Given the description of an element on the screen output the (x, y) to click on. 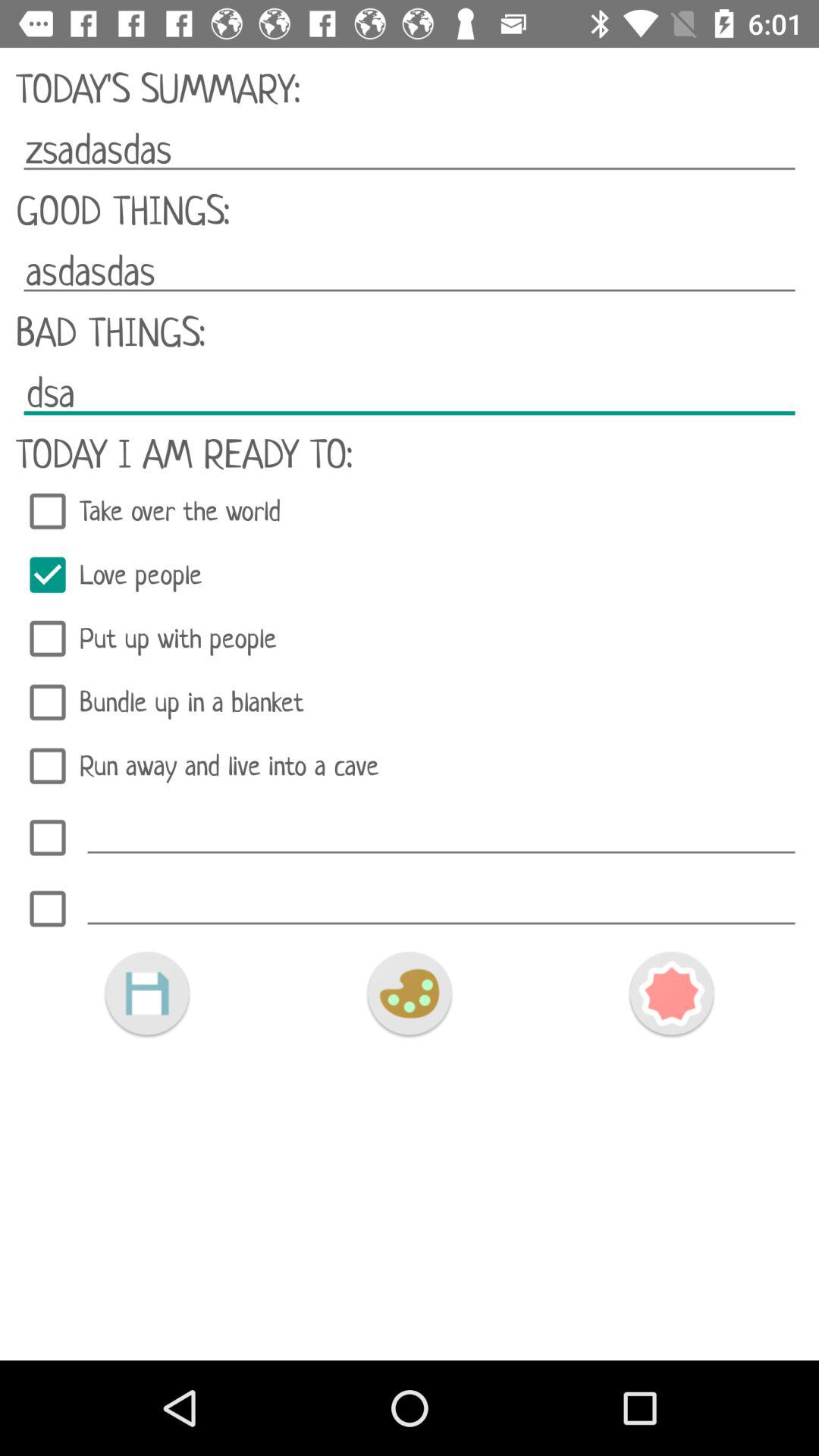
select the icon at the bottom right corner (671, 993)
